Given the description of an element on the screen output the (x, y) to click on. 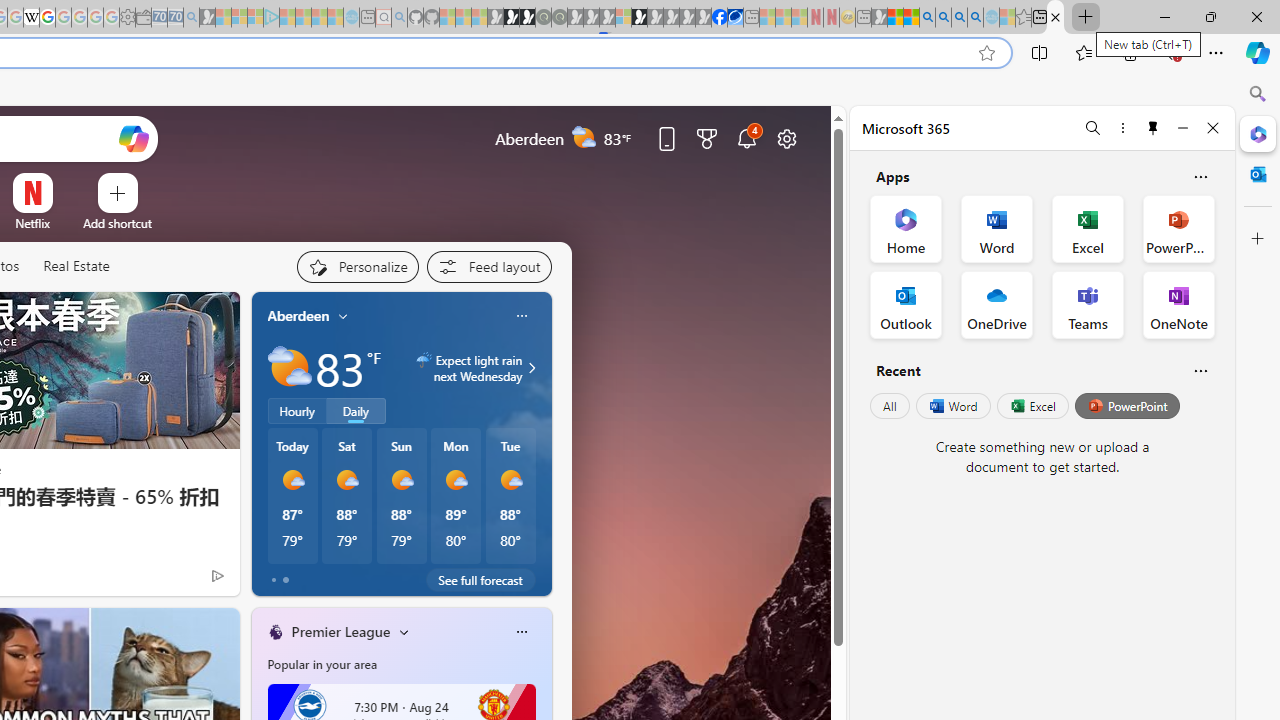
Google Chrome Internet Browser Download - Search Images (975, 17)
Microsoft Start Gaming - Sleeping (207, 17)
Partly sunny (289, 368)
